Given the description of an element on the screen output the (x, y) to click on. 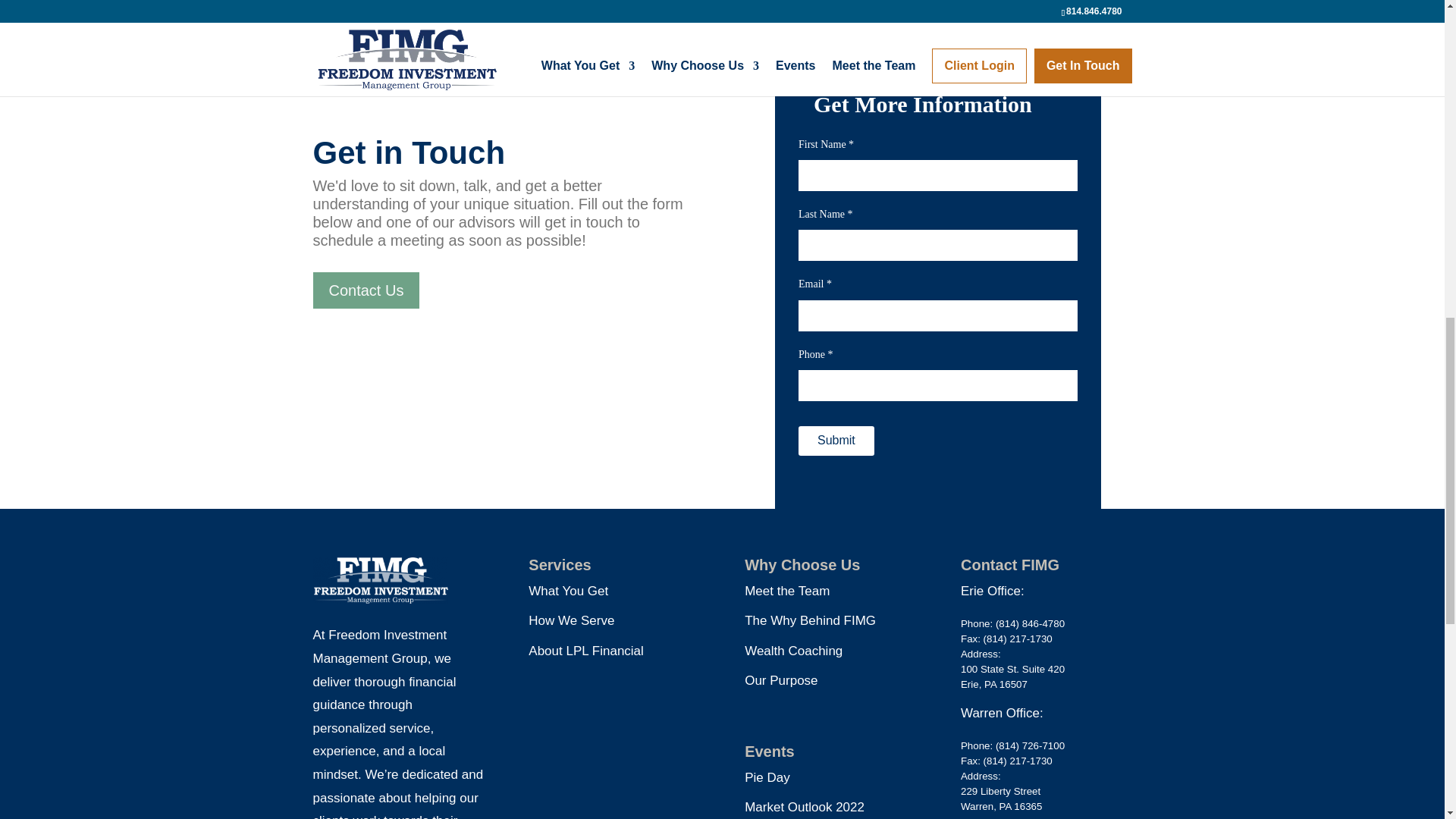
Contact Us (366, 289)
The Why Behind FIMG (810, 620)
How We Serve (571, 620)
Meet the Team (786, 590)
Our Purpose (780, 680)
Market Outlook 2022 (804, 807)
What You Get (568, 590)
Pie Day (767, 777)
About LPL Financial (585, 650)
Wealth Coaching (793, 650)
